Given the description of an element on the screen output the (x, y) to click on. 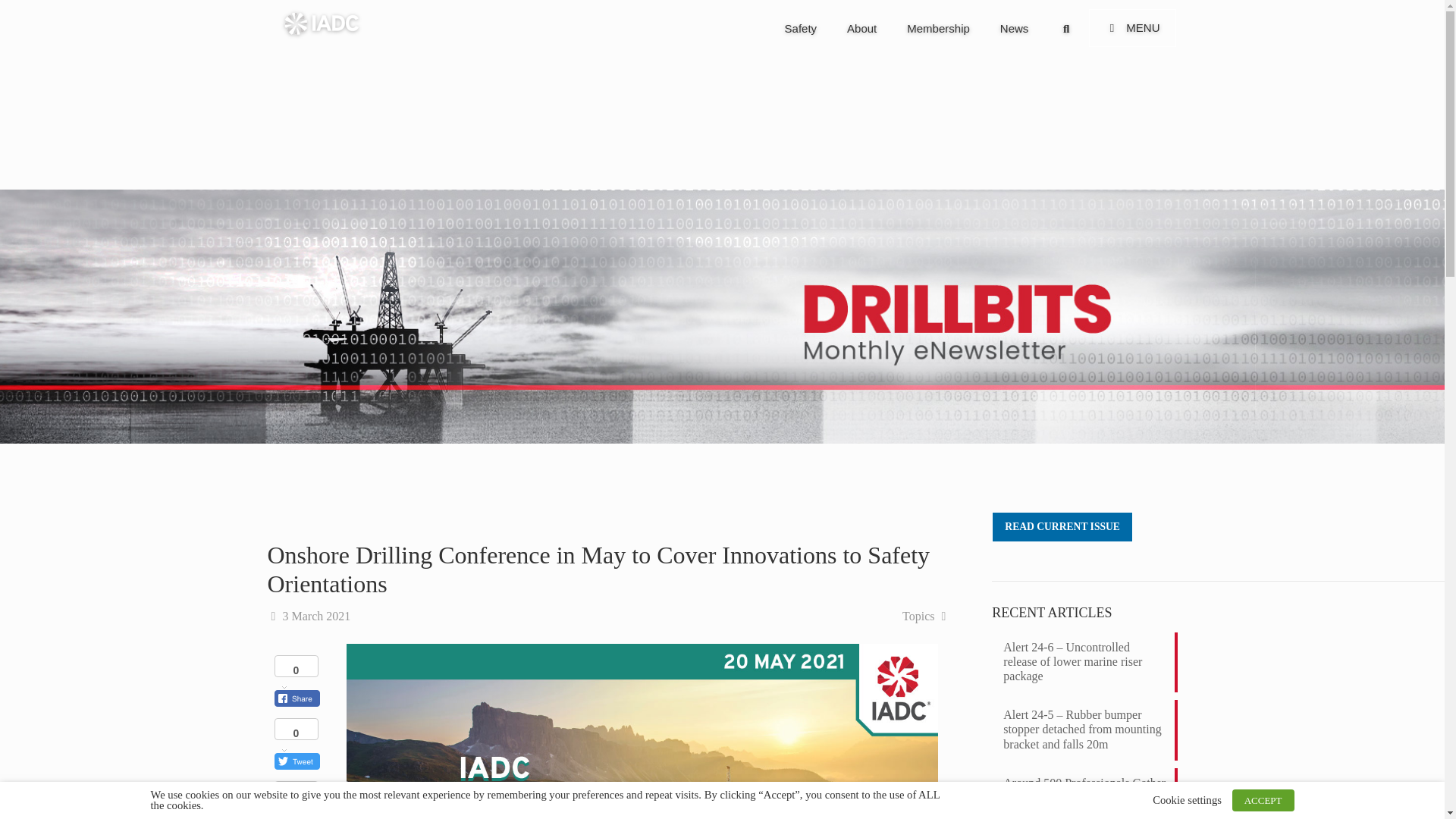
Safety (801, 28)
About (861, 28)
IADC.org (320, 22)
Membership (938, 28)
News (1014, 28)
MENU (1132, 27)
